Given the description of an element on the screen output the (x, y) to click on. 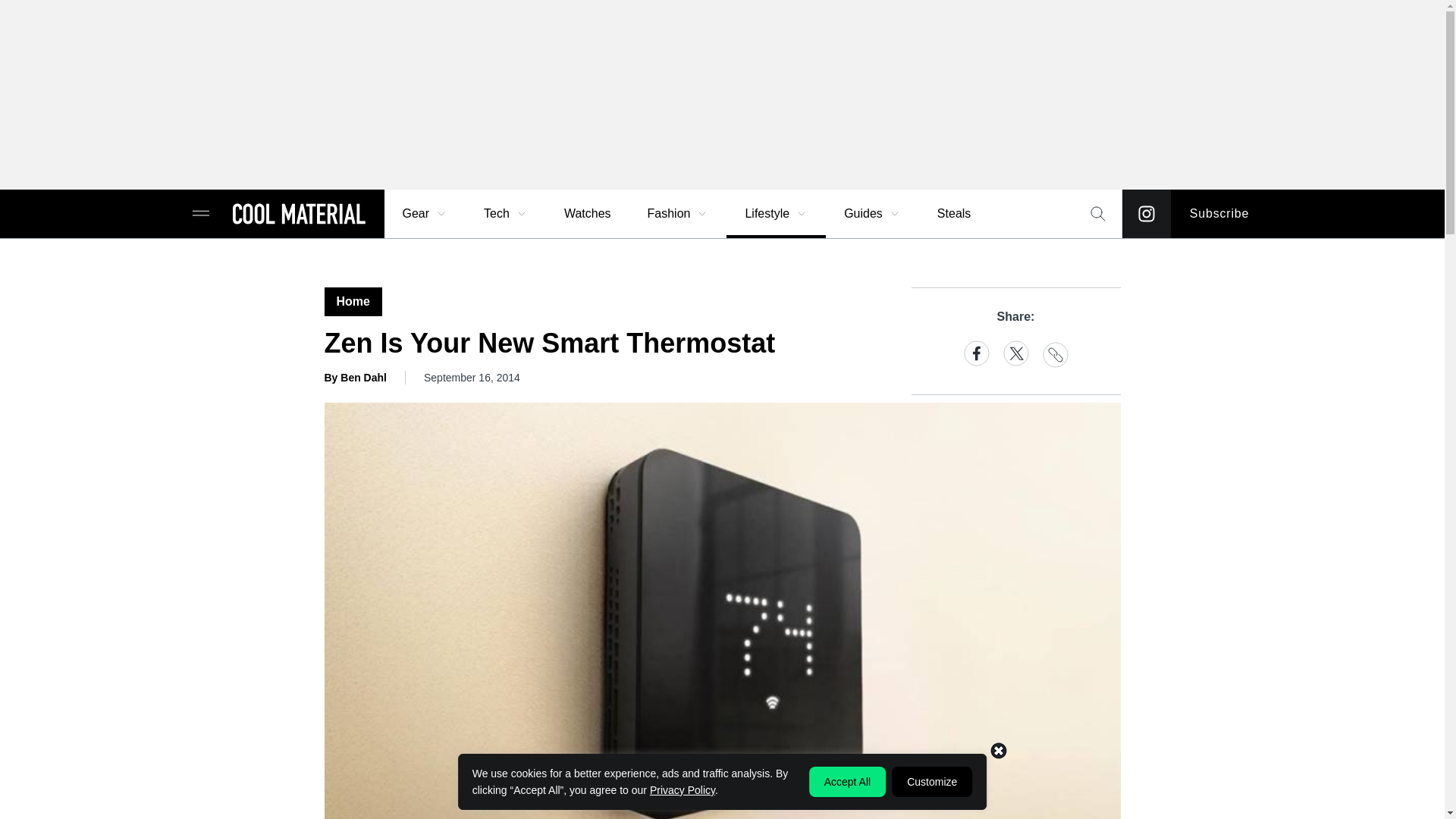
Tech (505, 213)
Watches (587, 213)
Privacy Policy (681, 789)
3rd party ad content (721, 785)
Fashion (677, 213)
3rd party ad content (721, 94)
Accept All (847, 781)
Lifestyle (775, 213)
Customize (931, 781)
Gear (424, 213)
